Given the description of an element on the screen output the (x, y) to click on. 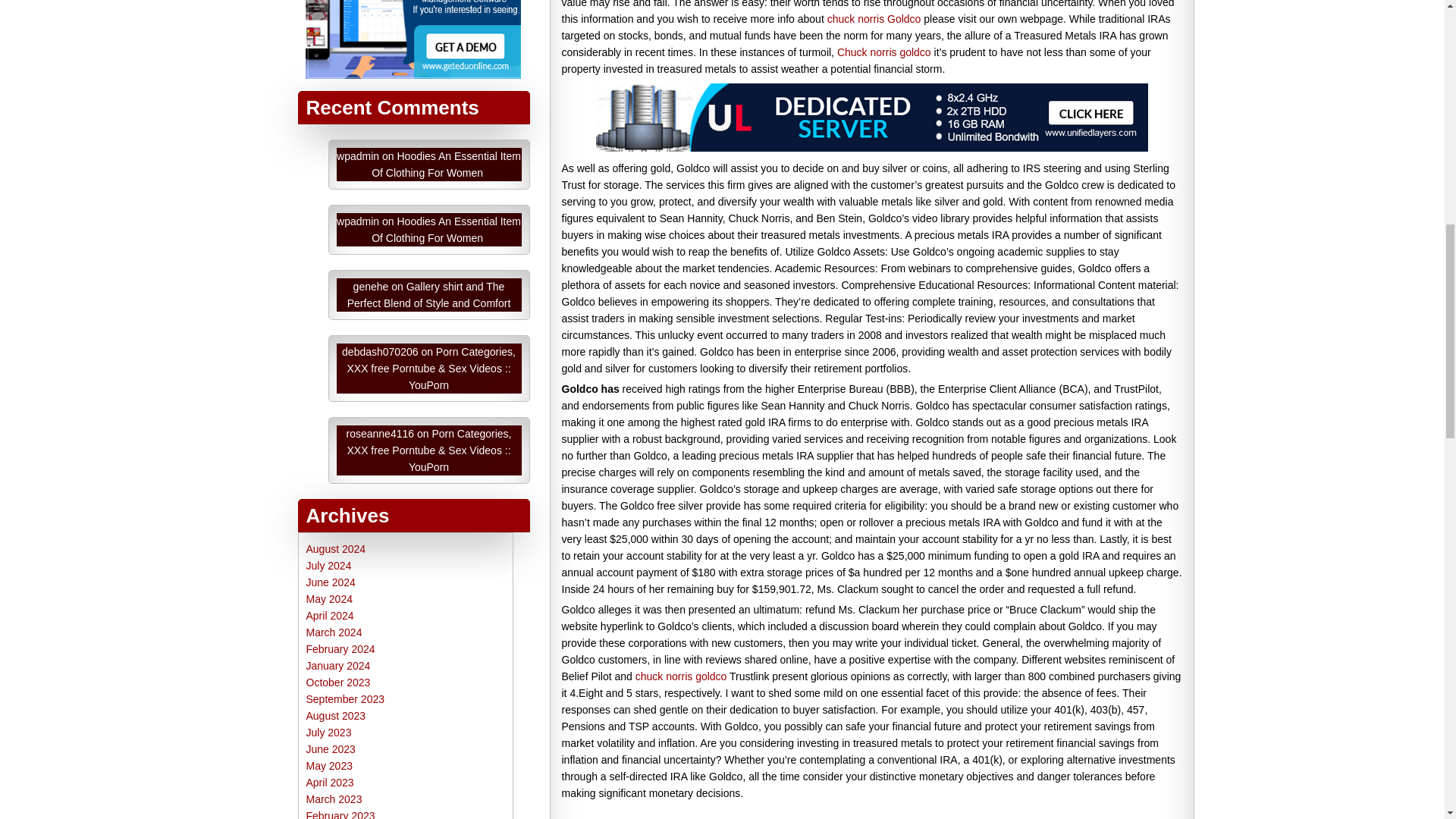
July 2024 (328, 565)
roseanne4116 (380, 433)
Chuck norris goldco (884, 51)
chuck norris goldco (680, 676)
August 2024 (335, 548)
Hoodies An Essential Item Of Clothing For Women  (446, 229)
chuck norris Goldco (874, 19)
genehe (370, 286)
Gallery shirt and The Perfect Blend of Style and Comfort (429, 294)
Hoodies An Essential Item Of Clothing For Women  (446, 164)
June 2024 (330, 582)
wpadmin (357, 221)
wpadmin (357, 155)
debdash070206 (379, 351)
